Given the description of an element on the screen output the (x, y) to click on. 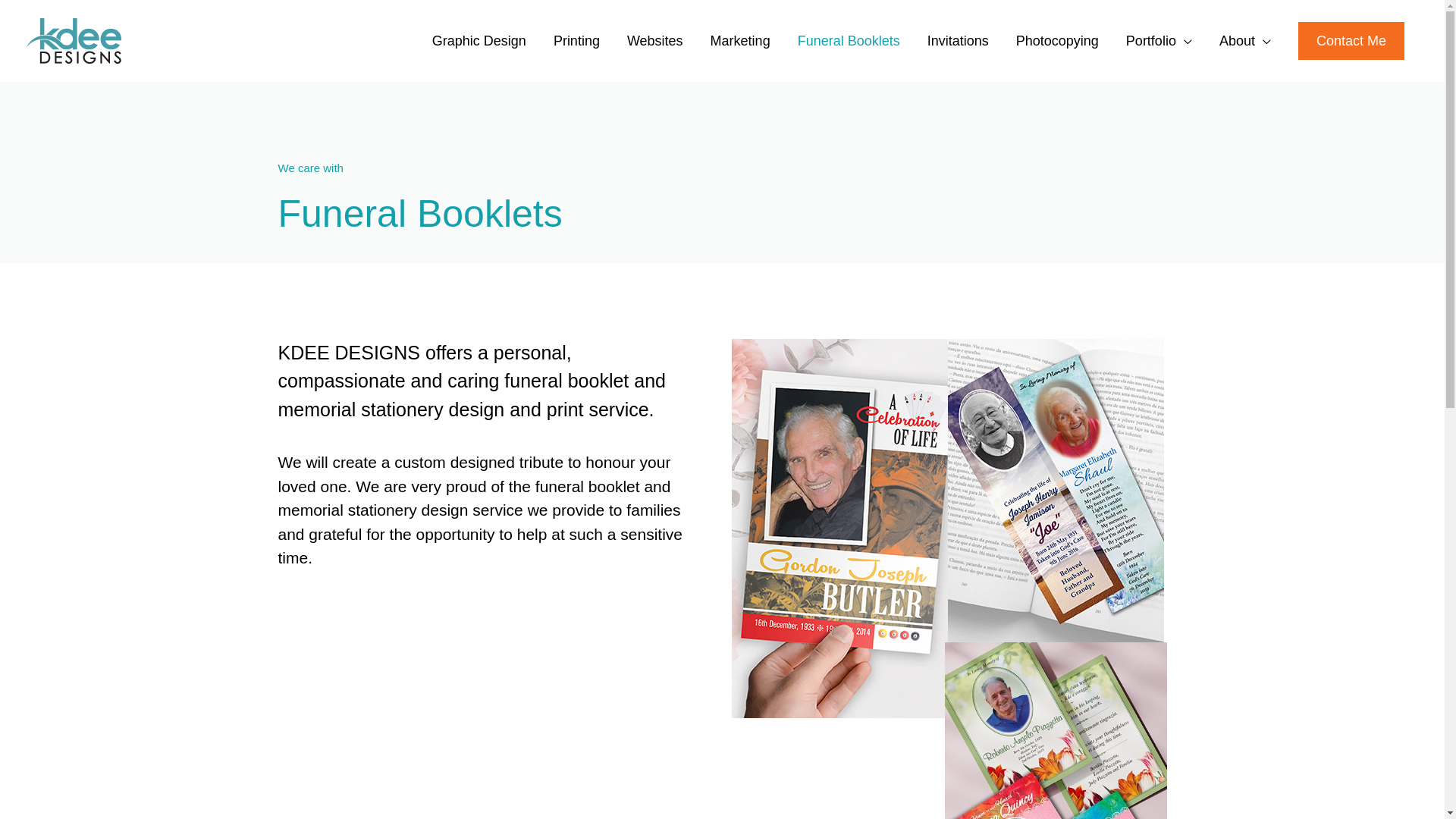
Graphic Design Element type: text (478, 40)
Websites Element type: text (654, 40)
About Element type: text (1244, 40)
Funeral Booklets Element type: text (848, 40)
Invitations Element type: text (957, 40)
Photocopying Element type: text (1057, 40)
Printing Element type: text (576, 40)
Portfolio Element type: text (1158, 40)
Marketing Element type: text (740, 40)
Contact Me Element type: text (1351, 40)
